Given the description of an element on the screen output the (x, y) to click on. 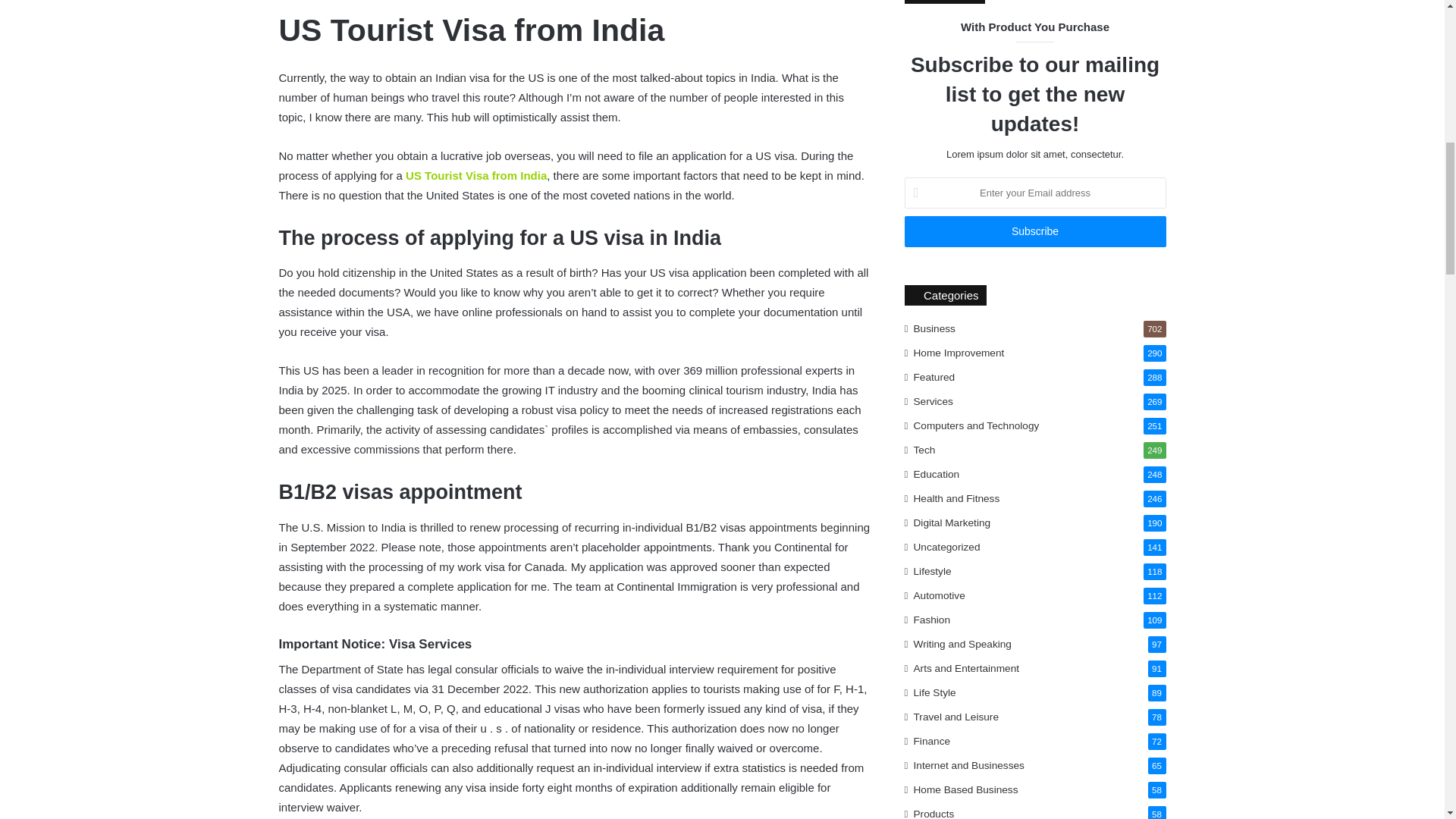
US Tourist Visa from India (476, 174)
Subscribe (1035, 231)
